Given the description of an element on the screen output the (x, y) to click on. 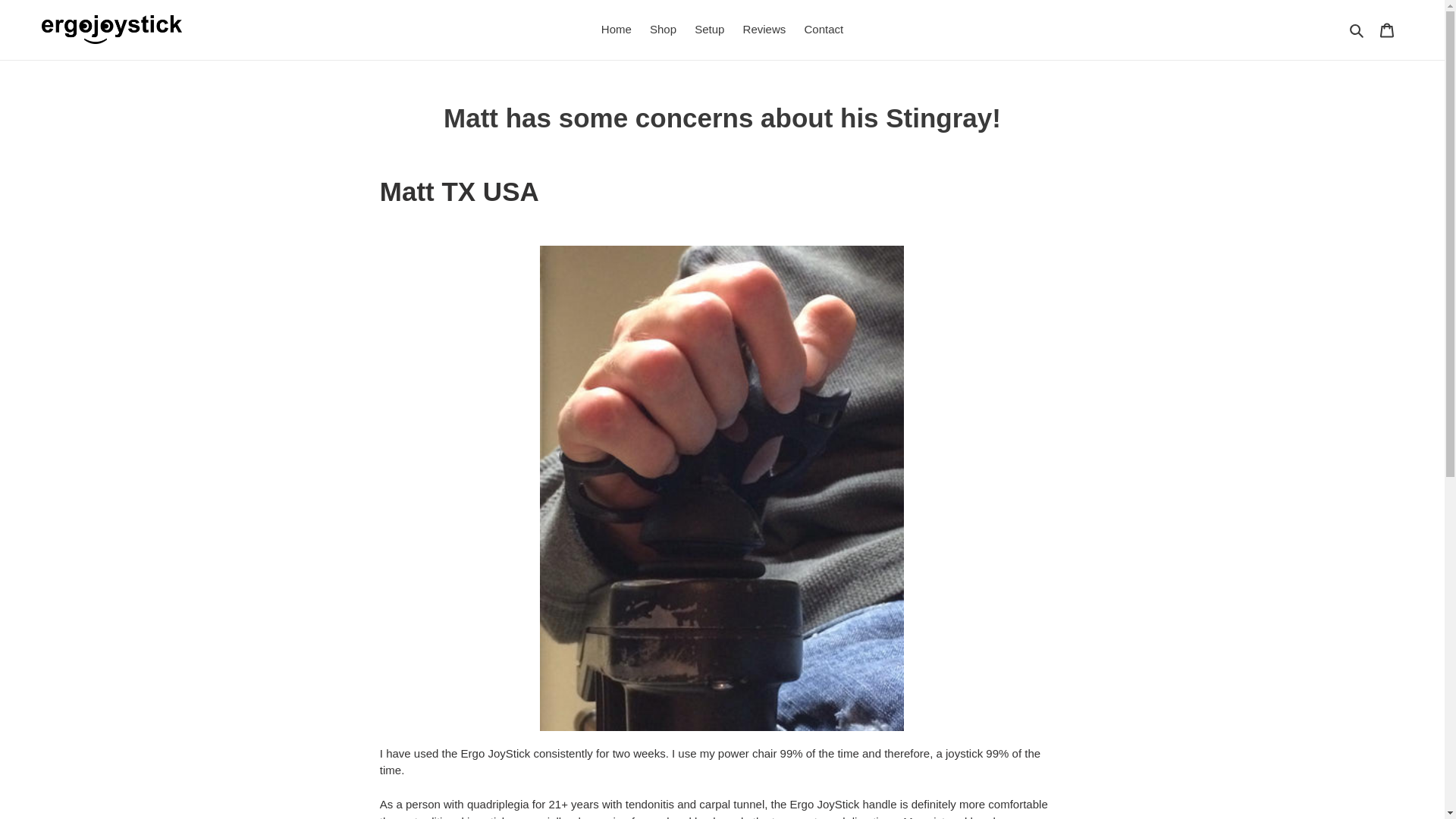
Search (1357, 29)
Contact (823, 29)
Home (616, 29)
Setup (709, 29)
Cart (1387, 29)
Shop (663, 29)
Reviews (764, 29)
